Given the description of an element on the screen output the (x, y) to click on. 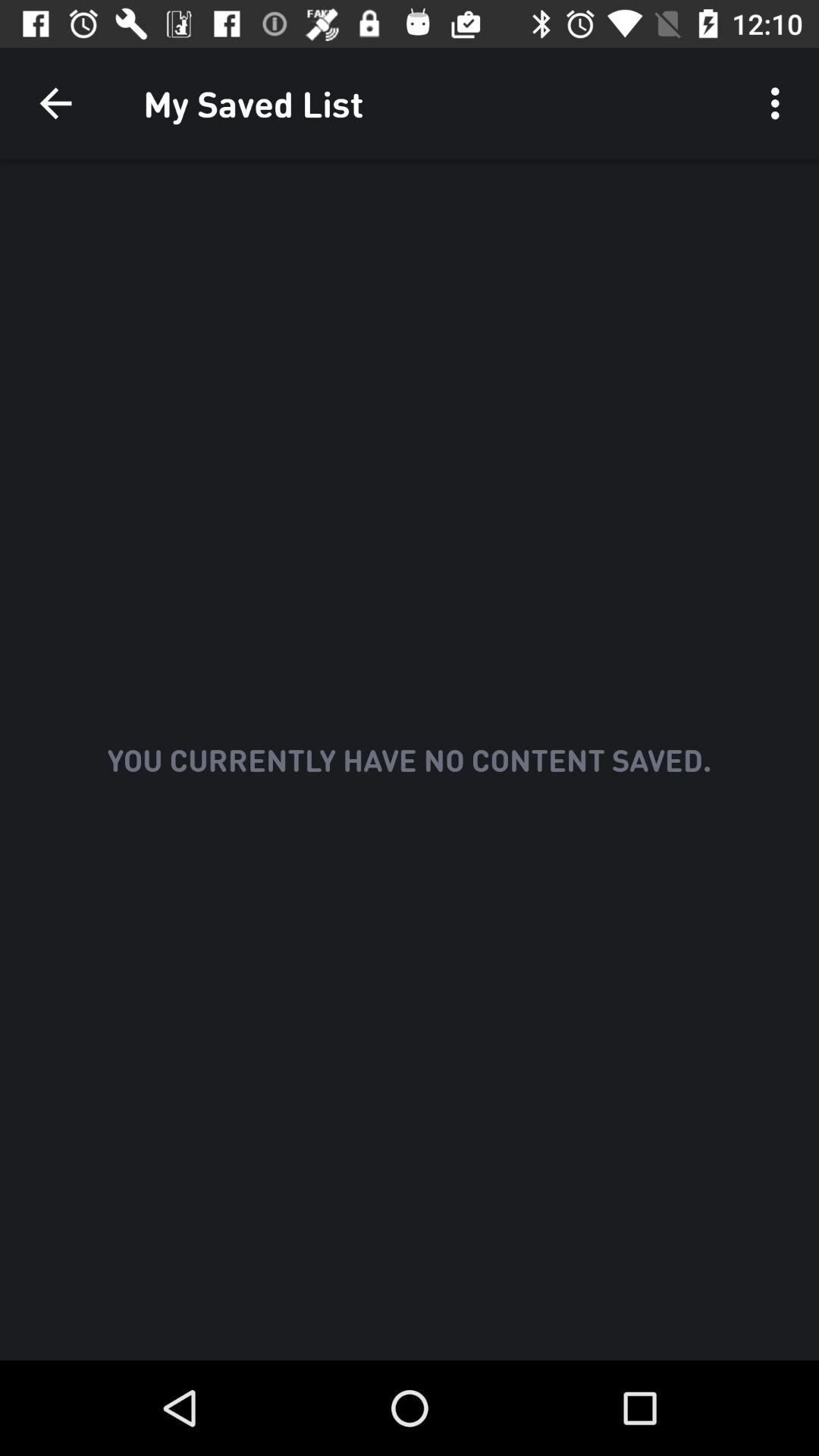
menu option at top right (779, 103)
click on the text at middle of the page (409, 758)
